Given the description of an element on the screen output the (x, y) to click on. 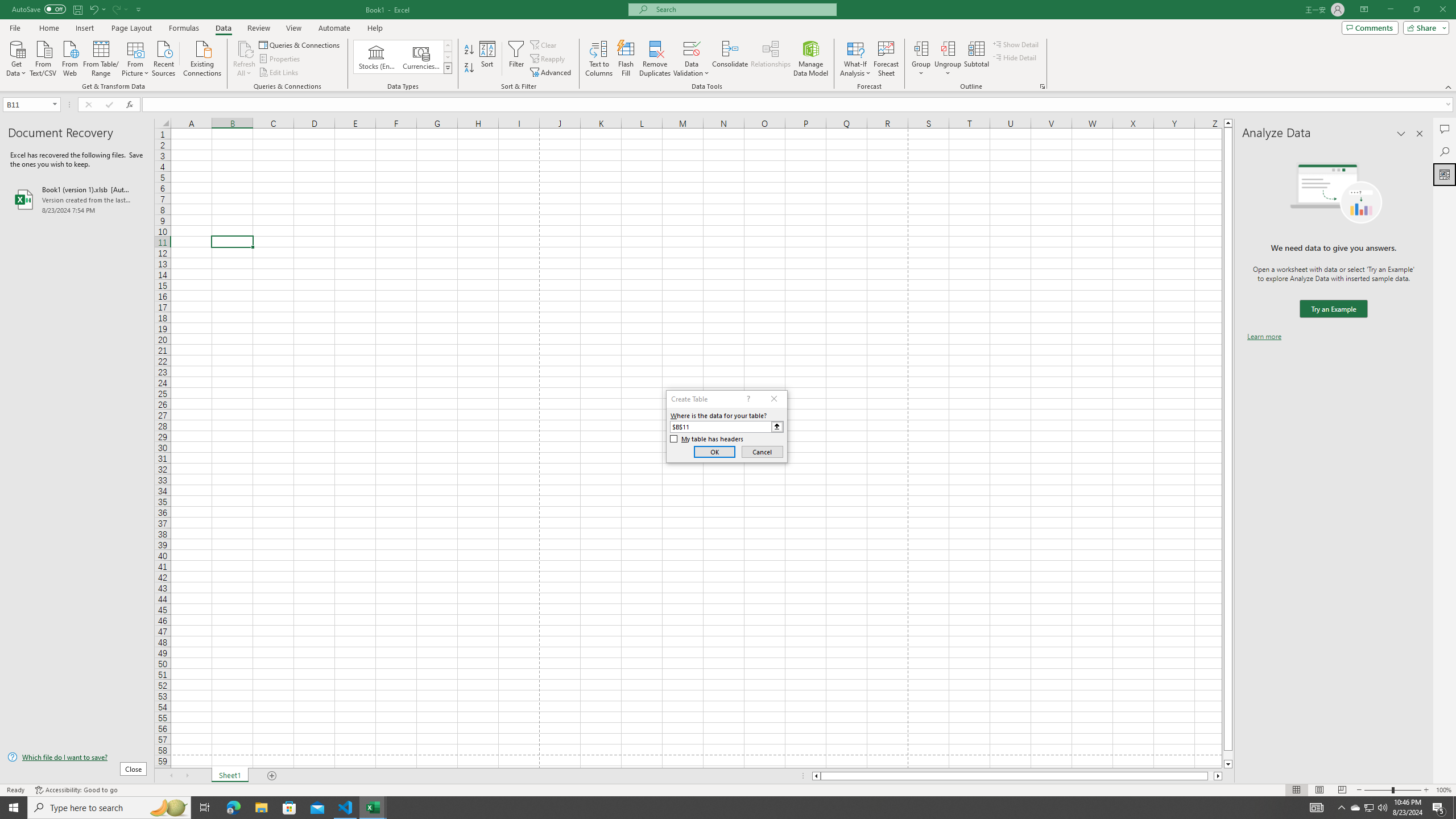
Data (223, 28)
Properties (280, 58)
Add Sheet (272, 775)
Scroll Right (187, 775)
Redo (119, 9)
Consolidate... (729, 58)
Data Validation... (691, 58)
Zoom (1392, 790)
Group... (921, 48)
Learn more (1264, 336)
Flash Fill (625, 58)
Sheet1 (229, 775)
Insert (83, 28)
